Given the description of an element on the screen output the (x, y) to click on. 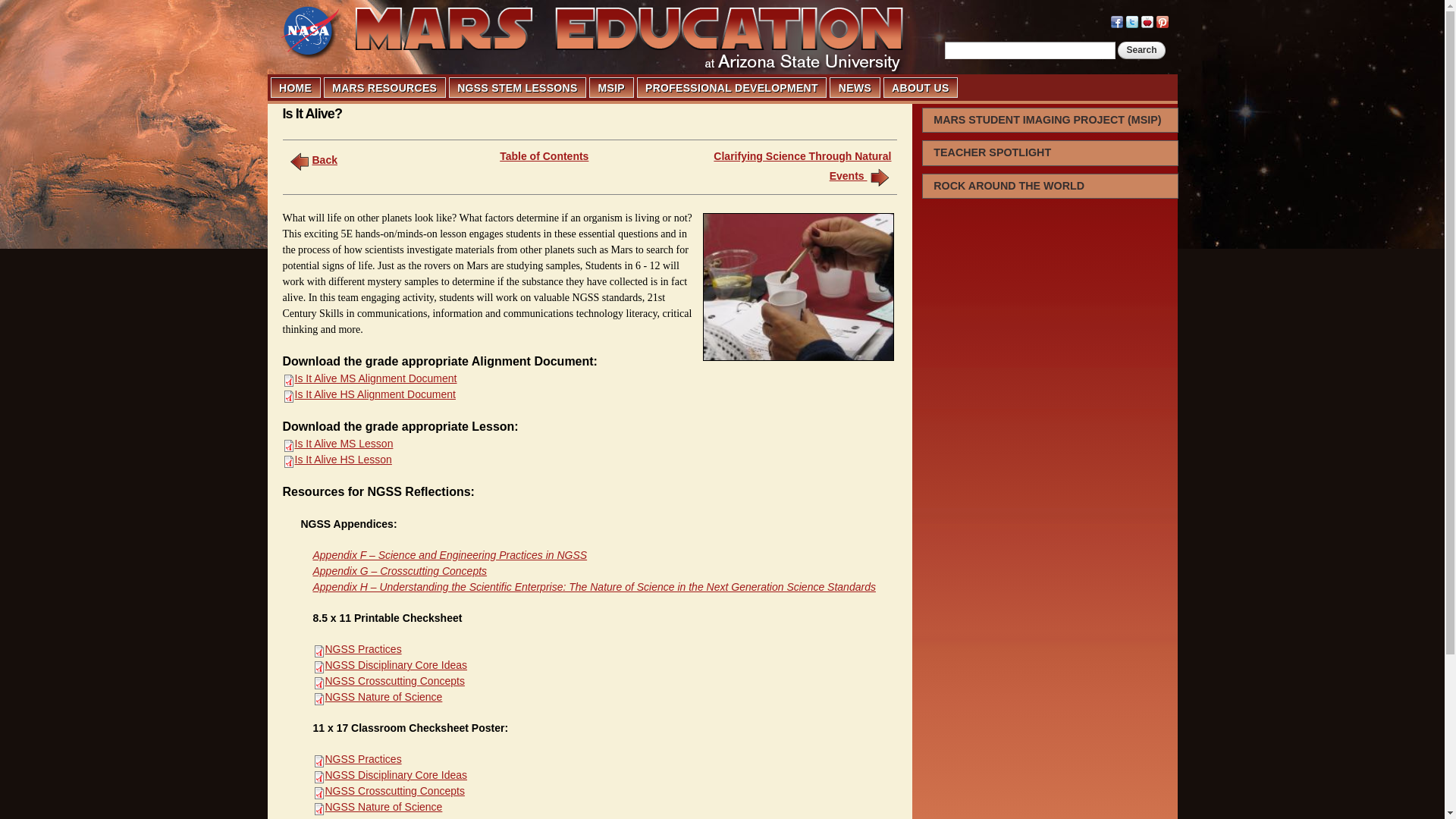
ABOUT US (920, 87)
NGSS STEM LESSONS (517, 87)
MARS RESOURCES (384, 87)
Search (1141, 49)
HOME (295, 87)
MSIP (610, 87)
Skip to main content (693, 1)
PROFESSIONAL DEVELOPMENT (731, 87)
Enter the terms you wish to search for. (1029, 49)
Search (1141, 49)
Visit MarsEducation on Pinterest (1161, 19)
Visit marseducation.asu.9 on Facebook (1115, 19)
Visit ASUMars on Twitter (1131, 19)
Visit ASU Mars Education on TeacherTube (1146, 19)
NEWS (854, 87)
